Given the description of an element on the screen output the (x, y) to click on. 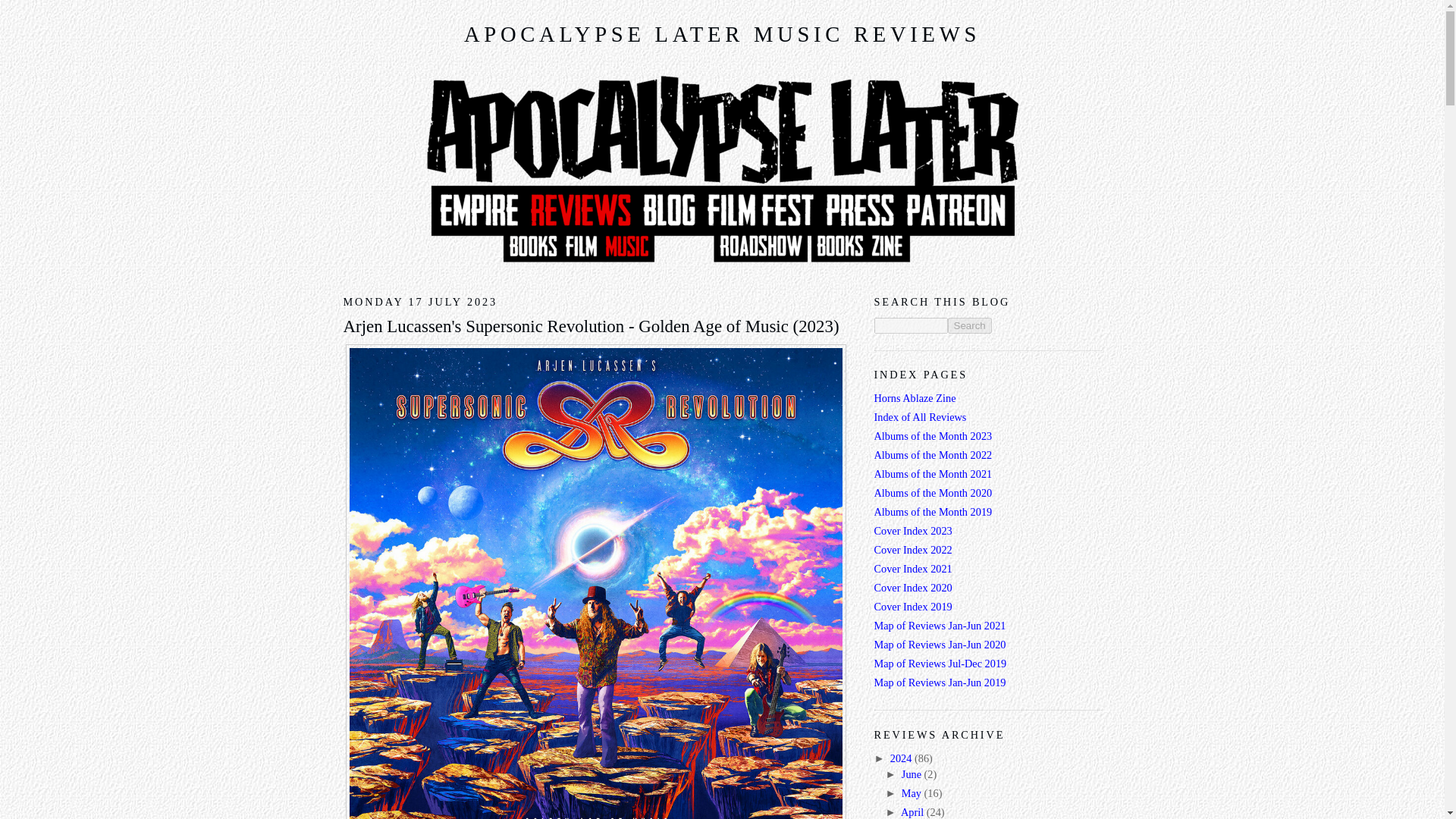
Cover Index 2021 (912, 568)
Cover Index 2022 (912, 549)
Albums of the Month 2019 (932, 511)
Map of Reviews Jan-Jun 2021 (939, 625)
Index of All Reviews (919, 417)
Search (969, 325)
Albums of the Month 2020 (932, 492)
Map of Reviews Jan-Jun 2020 (939, 644)
Albums of the Month 2022 (932, 454)
search (910, 325)
Cover Index 2020 (912, 587)
Cover Index 2019 (912, 606)
Search (969, 325)
Search (969, 325)
APOCALYPSE LATER MUSIC REVIEWS (721, 33)
